Given the description of an element on the screen output the (x, y) to click on. 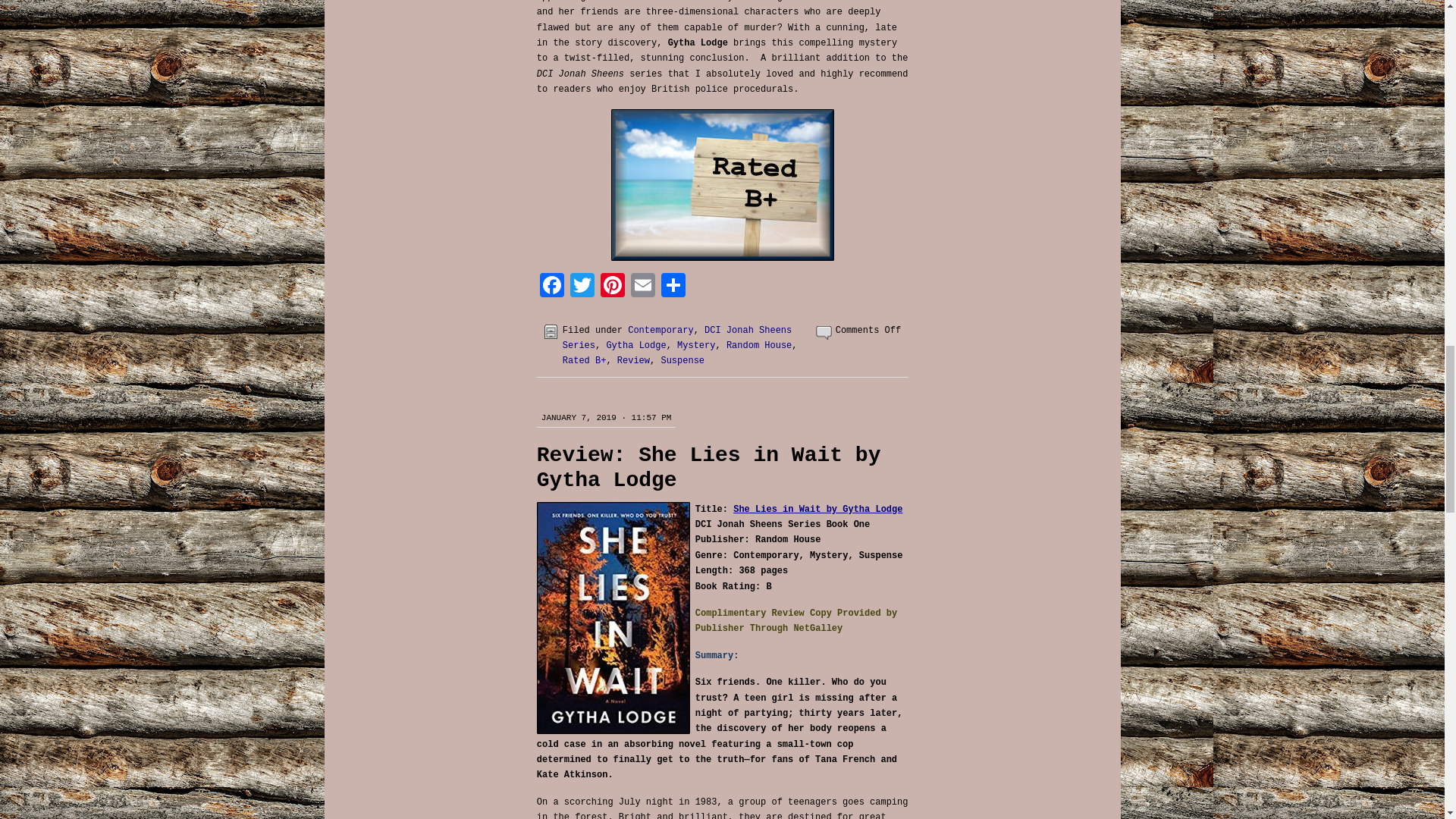
She Lies in Wait by Gytha Lodge (817, 509)
Suspense (682, 360)
Facebook (552, 287)
Pinterest (611, 287)
Email (642, 287)
Contemporary (660, 330)
Review: She Lies in Wait by Gytha Lodge (708, 467)
Gytha Lodge (635, 345)
Email (642, 287)
Twitter (581, 287)
